Given the description of an element on the screen output the (x, y) to click on. 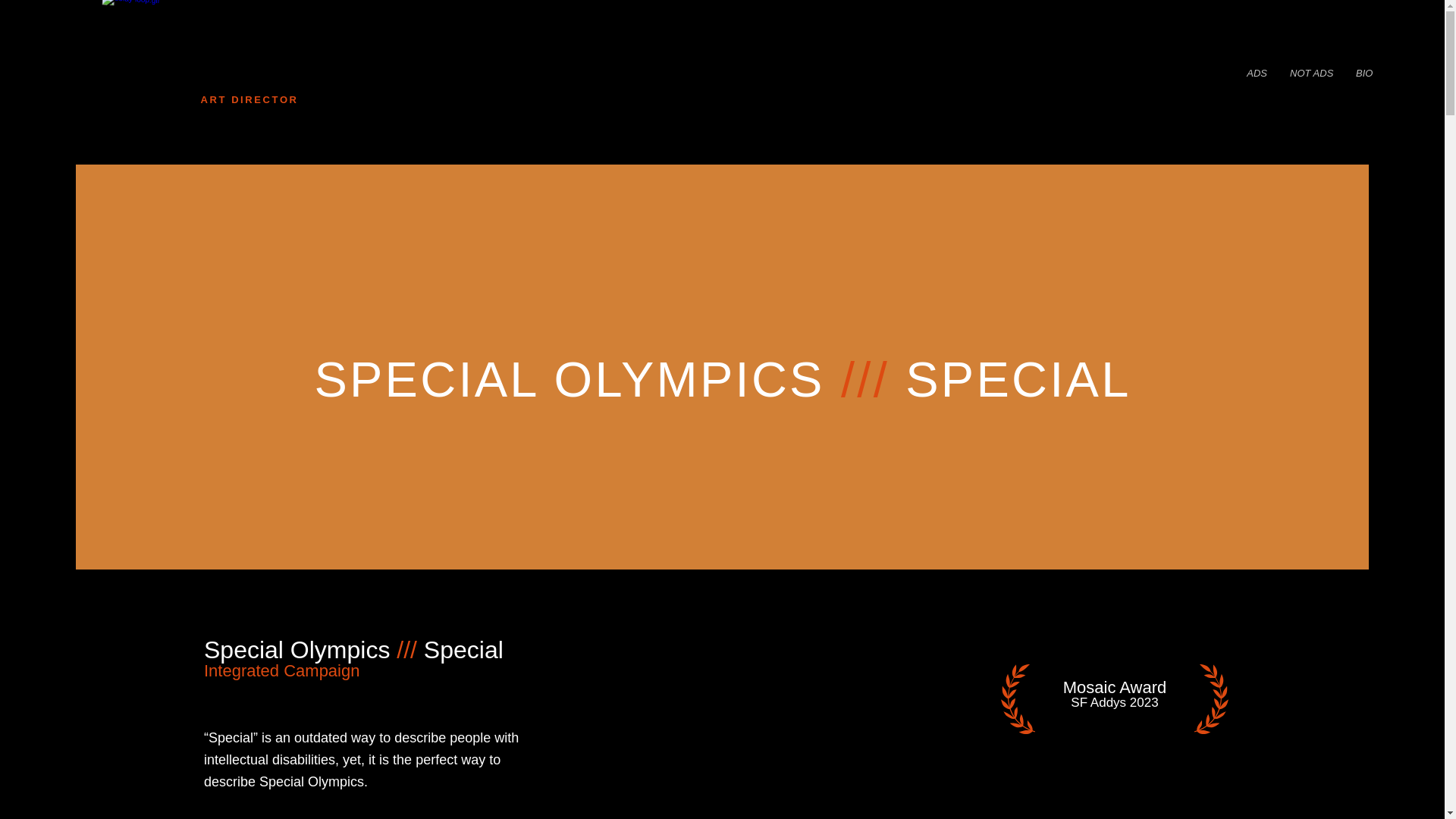
BIO (1363, 73)
ART DIRECTOR (249, 99)
ADS (1256, 73)
NOT ADS (1310, 73)
